Given the description of an element on the screen output the (x, y) to click on. 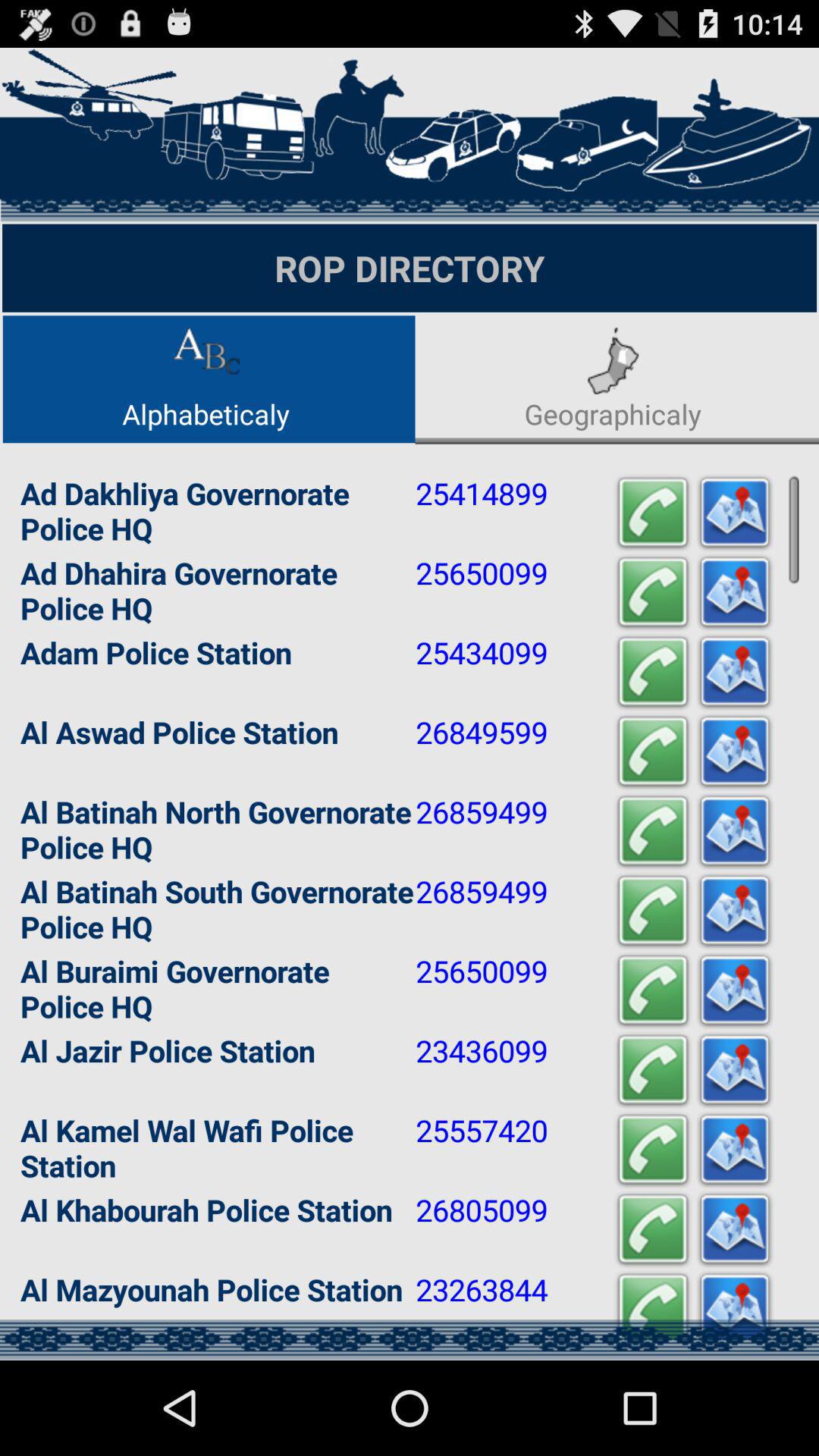
open location in maps (734, 831)
